Given the description of an element on the screen output the (x, y) to click on. 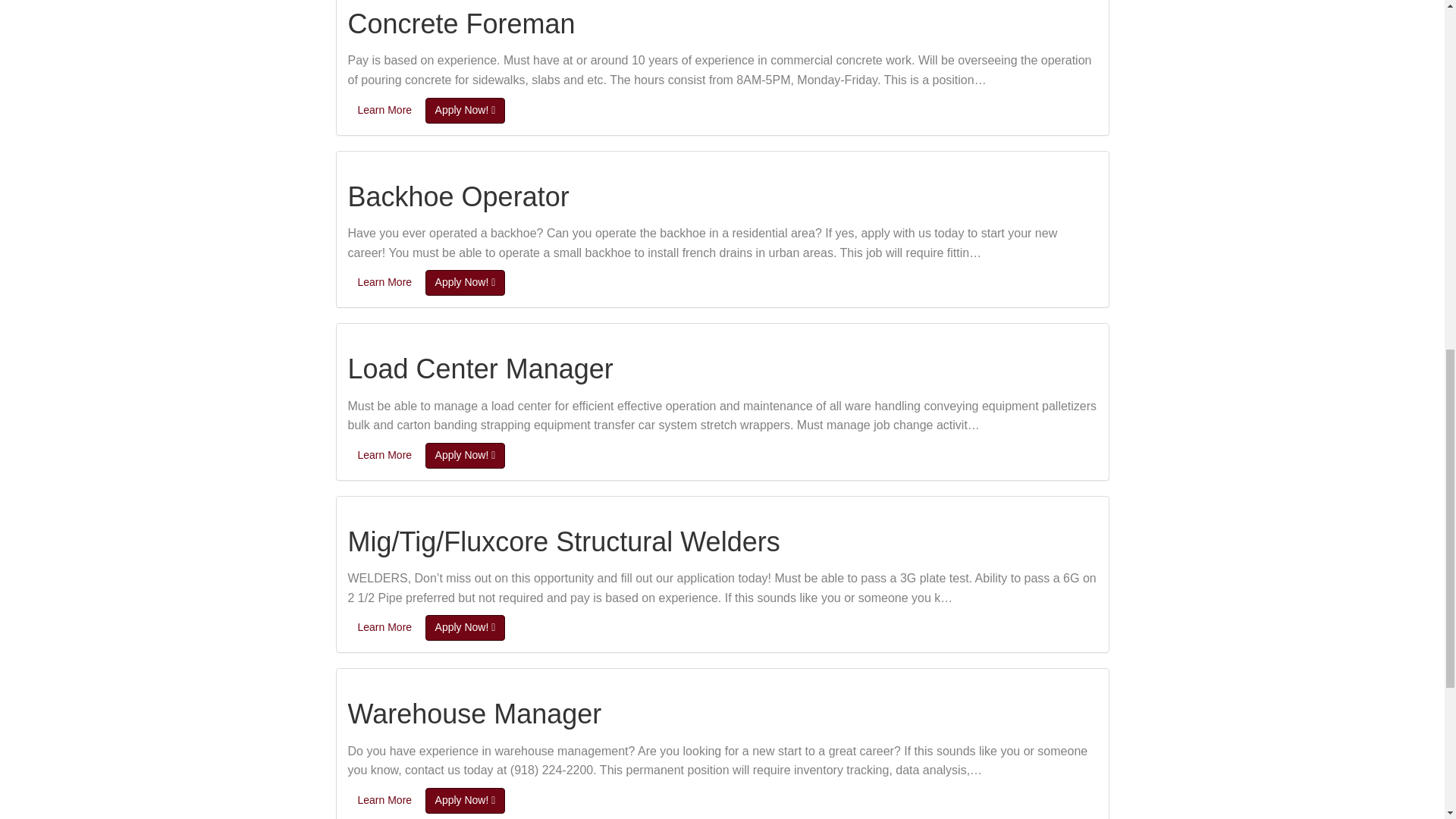
Warehouse Manager (474, 713)
Apply Now! (465, 110)
Apply Now! (465, 627)
Concrete Foreman (461, 23)
Learn More (384, 110)
Learn More (384, 627)
Learn More (384, 282)
Learn More (384, 455)
Learn More (384, 800)
Load Center Manager (479, 368)
Apply Now! (465, 800)
Apply Now! (465, 282)
Apply Now! (465, 455)
Backhoe Operator (458, 196)
